Given the description of an element on the screen output the (x, y) to click on. 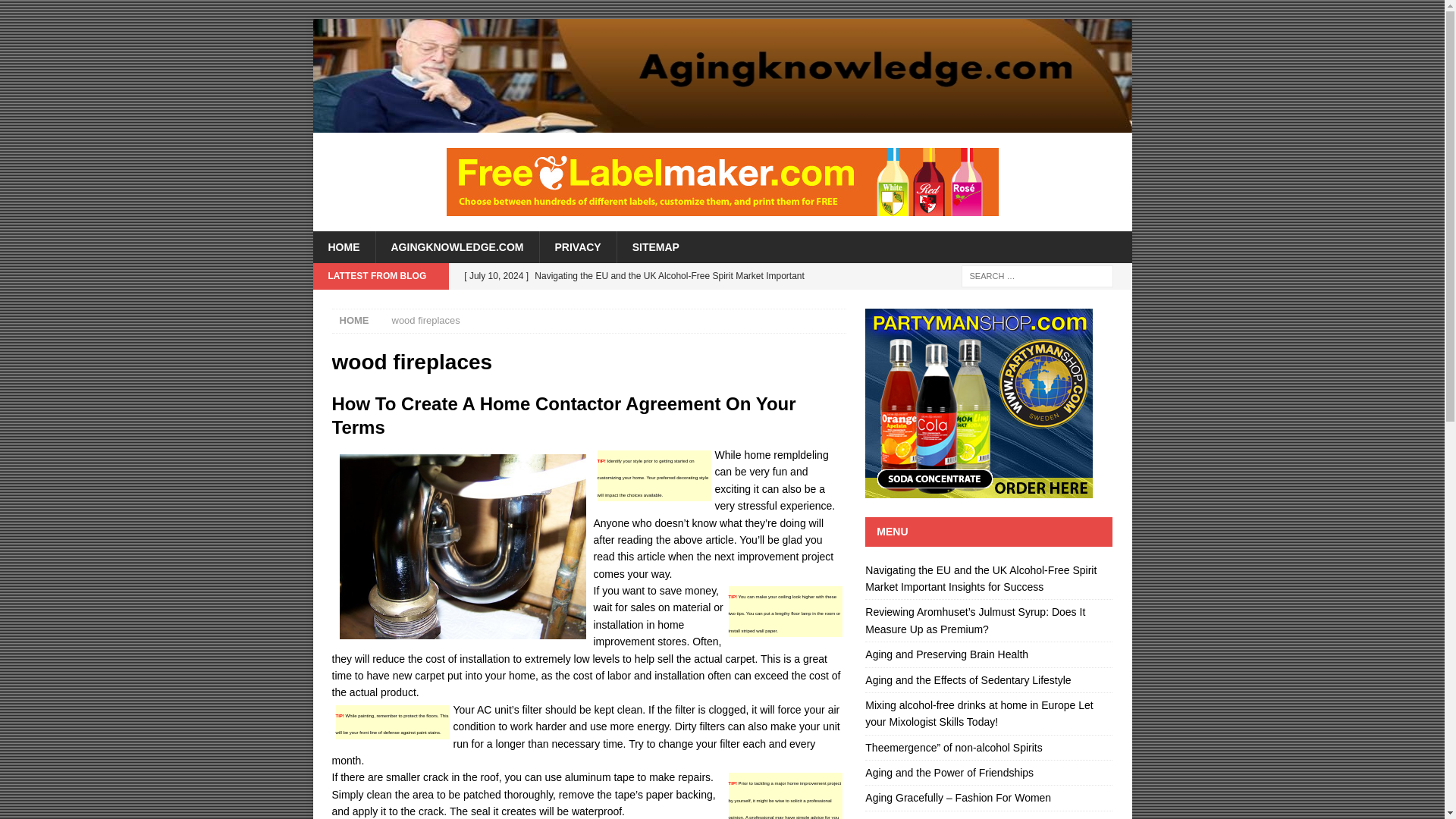
SITEMAP (654, 246)
PRIVACY (576, 246)
Aging and the Power of Friendships (948, 772)
Search (56, 11)
AGINGKNOWLEDGE.COM (456, 246)
Aging and the Effects of Sedentary Lifestyle (967, 680)
HOME (343, 246)
Make your own full colour labels (721, 182)
How To Create A Home Contactor Agreement On Your Terms (563, 415)
HOME (354, 319)
Aging and Preserving Brain Health (945, 654)
How To Create A Home Contactor Agreement On Your Terms (563, 415)
